Given the description of an element on the screen output the (x, y) to click on. 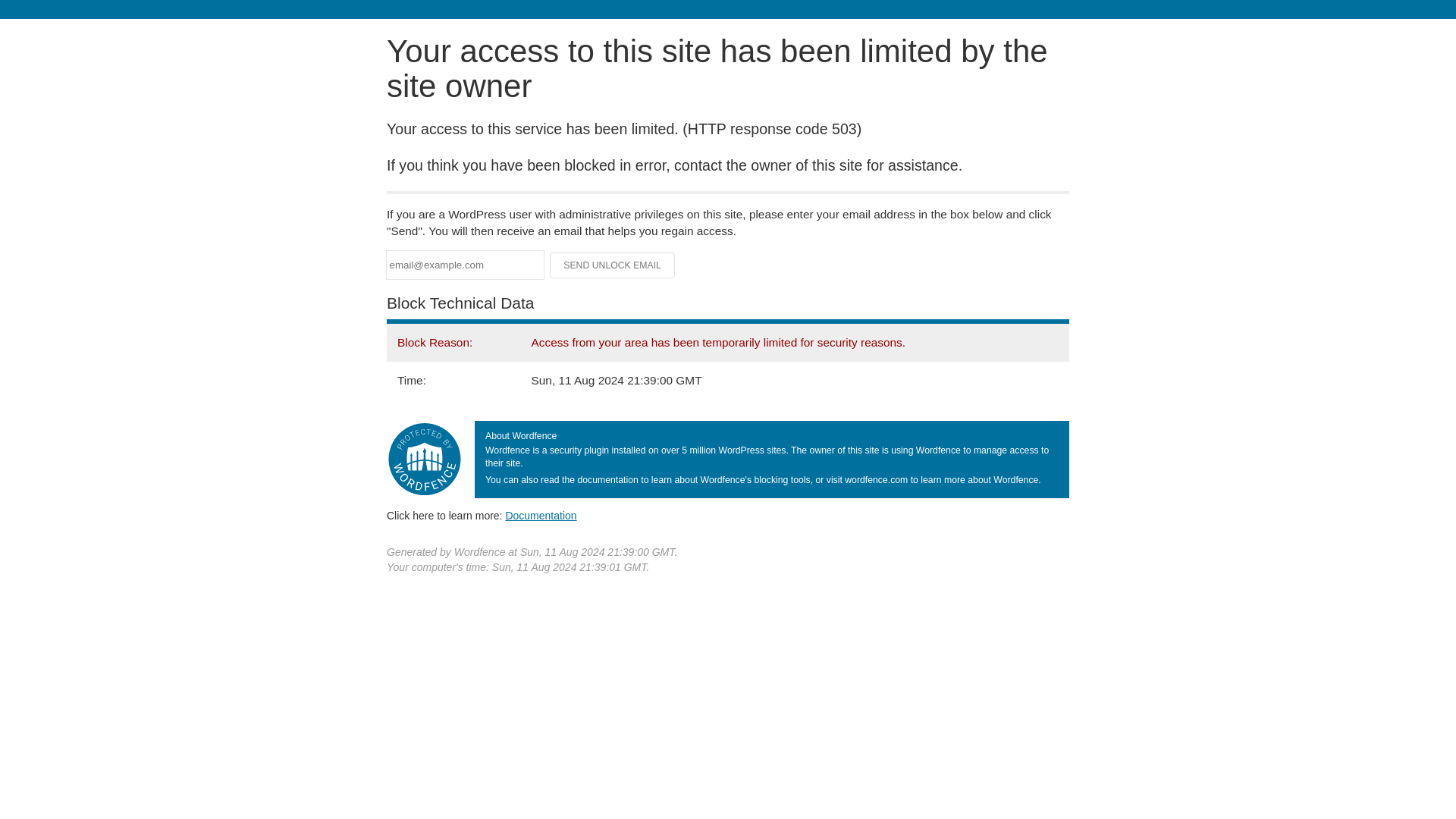
Documentation (540, 515)
Send Unlock Email (612, 265)
Send Unlock Email (612, 265)
